Given the description of an element on the screen output the (x, y) to click on. 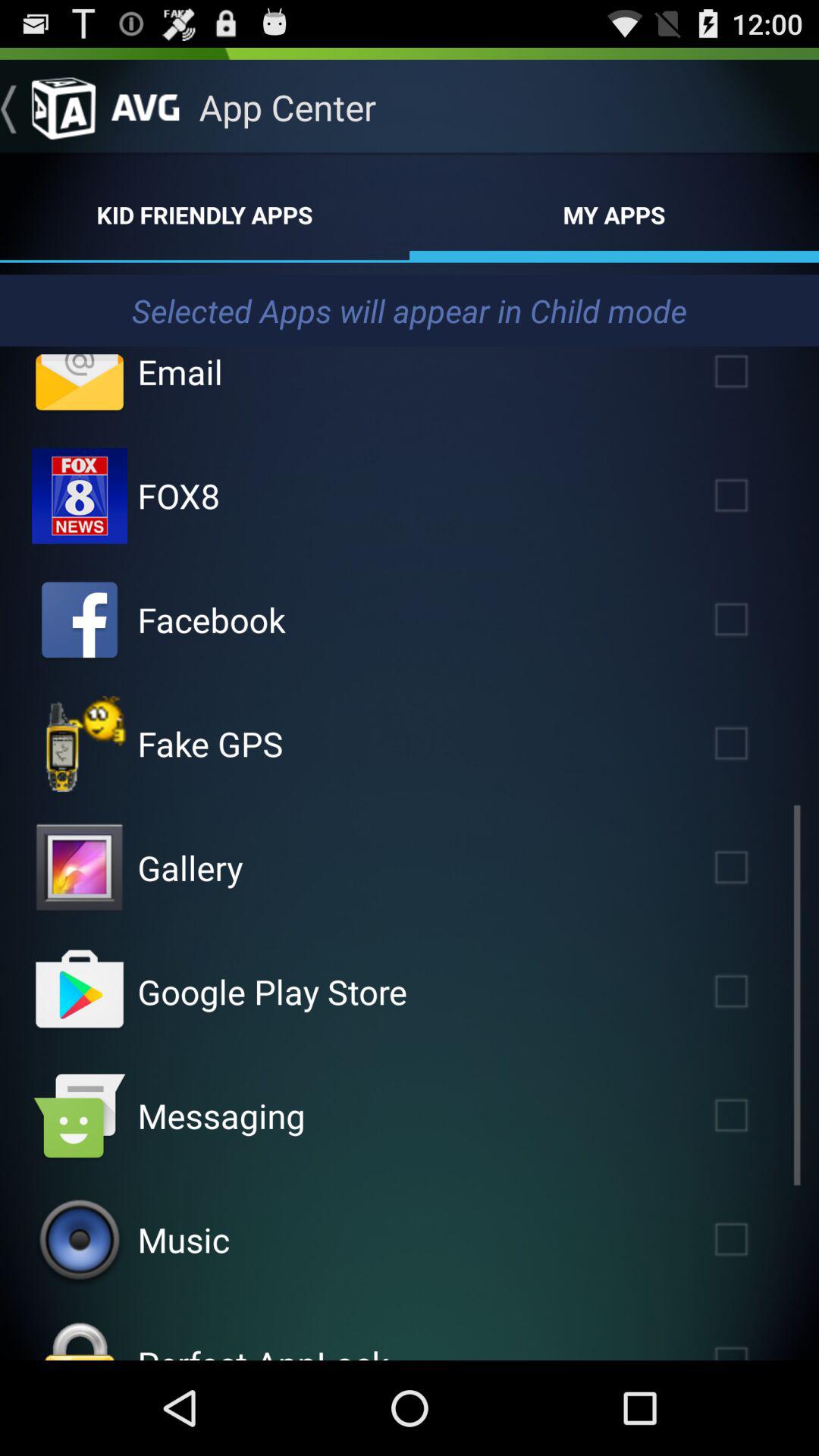
select the app (753, 743)
